Given the description of an element on the screen output the (x, y) to click on. 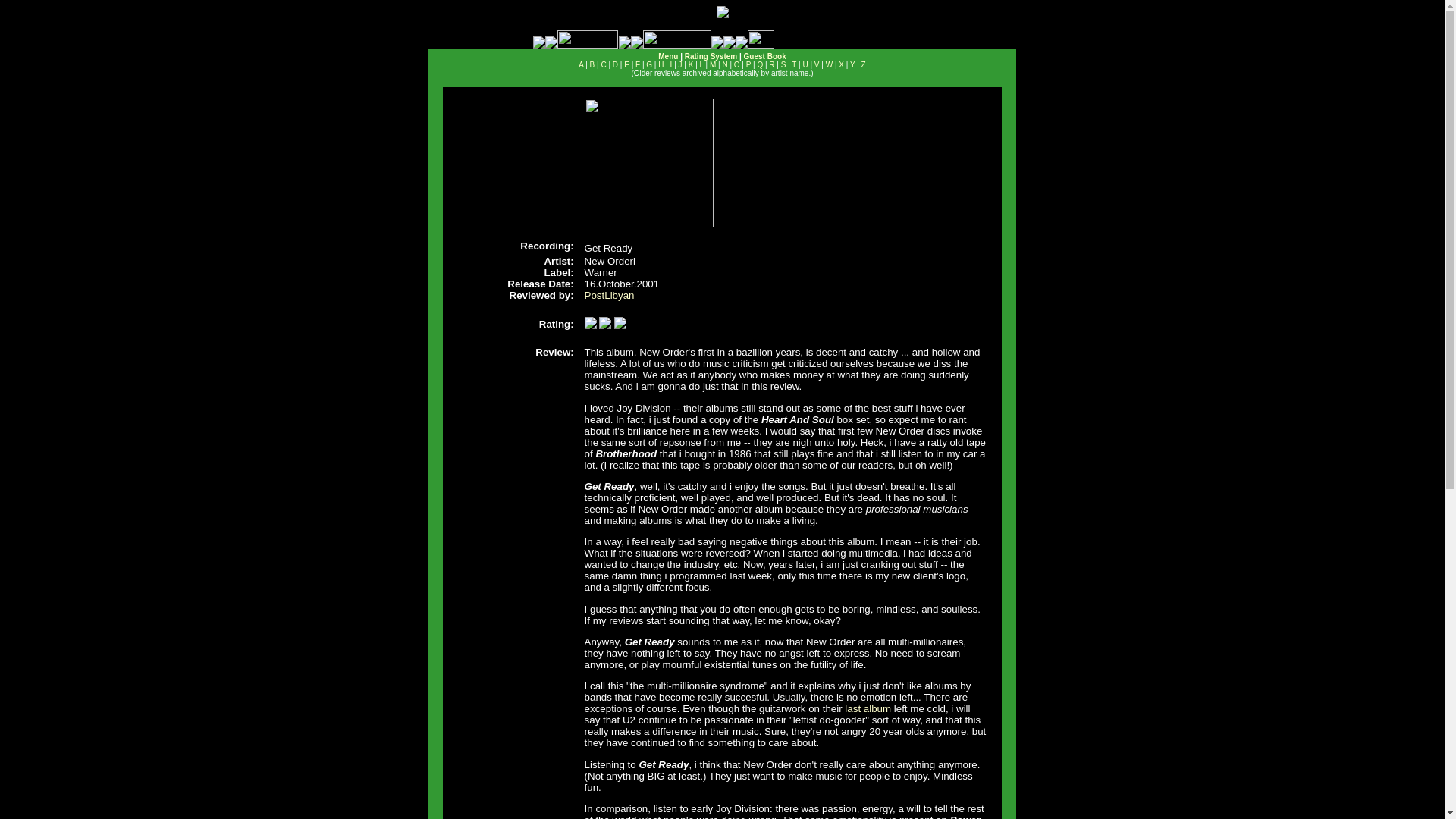
H (660, 64)
V (816, 64)
G (649, 64)
J (680, 64)
W (828, 64)
F (637, 64)
S (783, 64)
Y (853, 64)
Menu (668, 56)
M (713, 64)
Rating System (710, 56)
C (602, 64)
Q (759, 64)
D (614, 64)
E (626, 64)
